Given the description of an element on the screen output the (x, y) to click on. 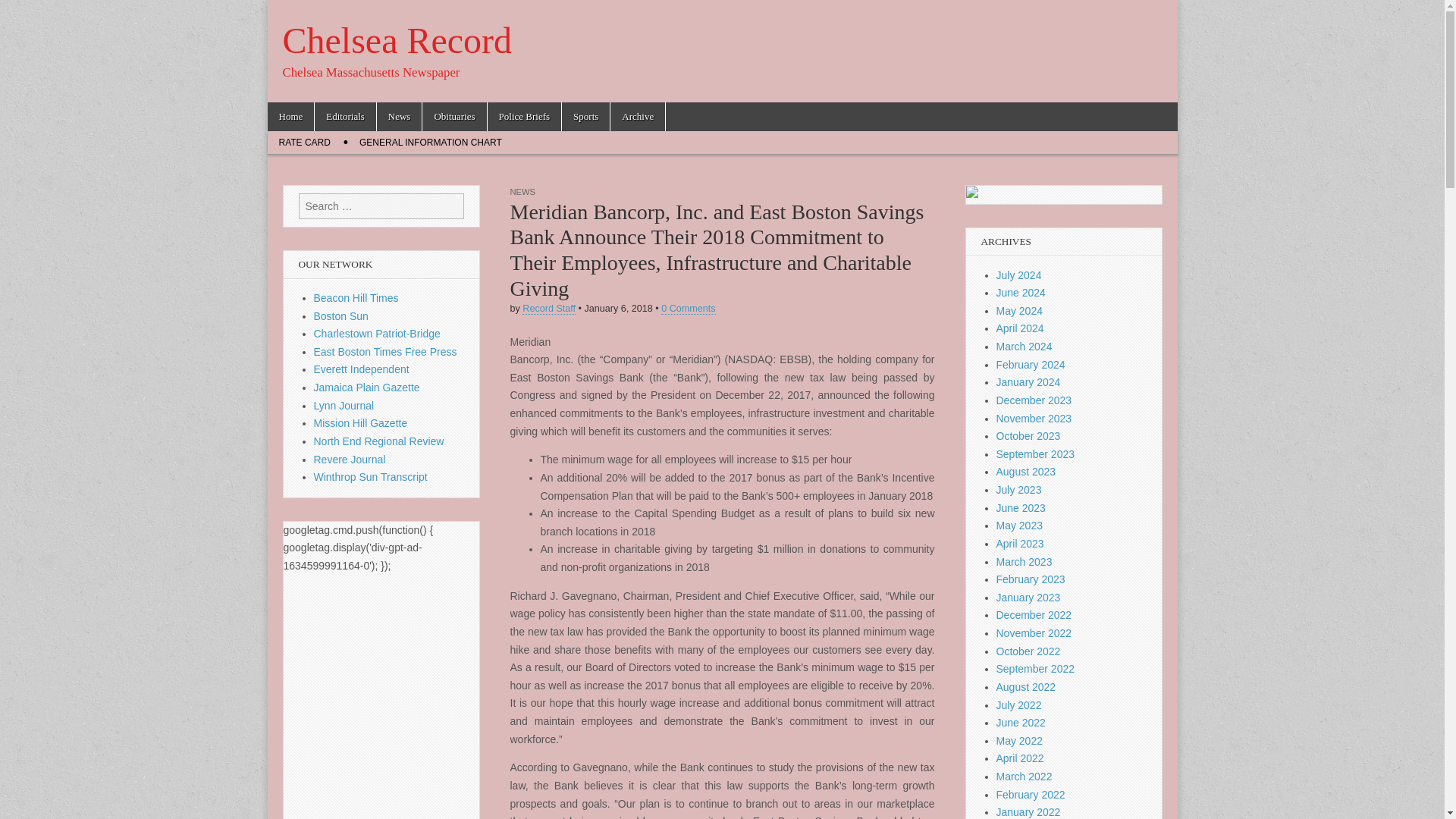
News (399, 116)
RATE CARD (303, 142)
Revere Journal (349, 459)
Archive (637, 116)
0 Comments (687, 308)
July 2024 (1018, 275)
GENERAL INFORMATION CHART (430, 142)
Search (23, 12)
Charlestown Patriot-Bridge (377, 333)
March 2024 (1023, 346)
Police Briefs (524, 116)
June 2024 (1020, 292)
February 2024 (1030, 364)
Home (290, 116)
